Given the description of an element on the screen output the (x, y) to click on. 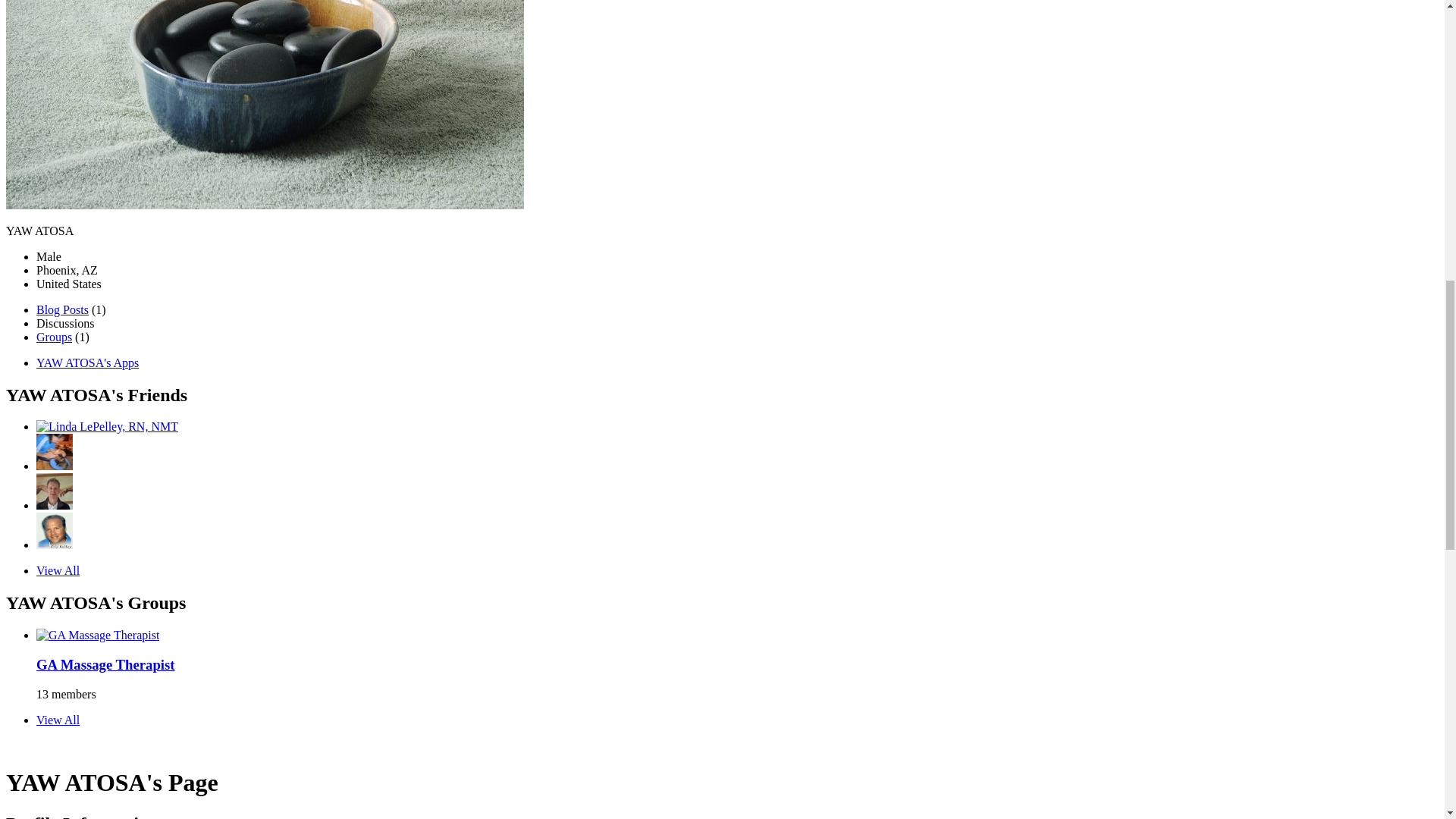
Daniel Cohen (54, 465)
Groups (53, 336)
Stephen Jeffrey (54, 504)
YAW ATOSA's Apps (87, 362)
Blog Posts (62, 309)
View All (58, 719)
GA Massage Therapist (105, 664)
Linda LePelley, RN, NMT (106, 426)
Las Vegas Massage In Summerlin (54, 544)
View All (58, 570)
